Given the description of an element on the screen output the (x, y) to click on. 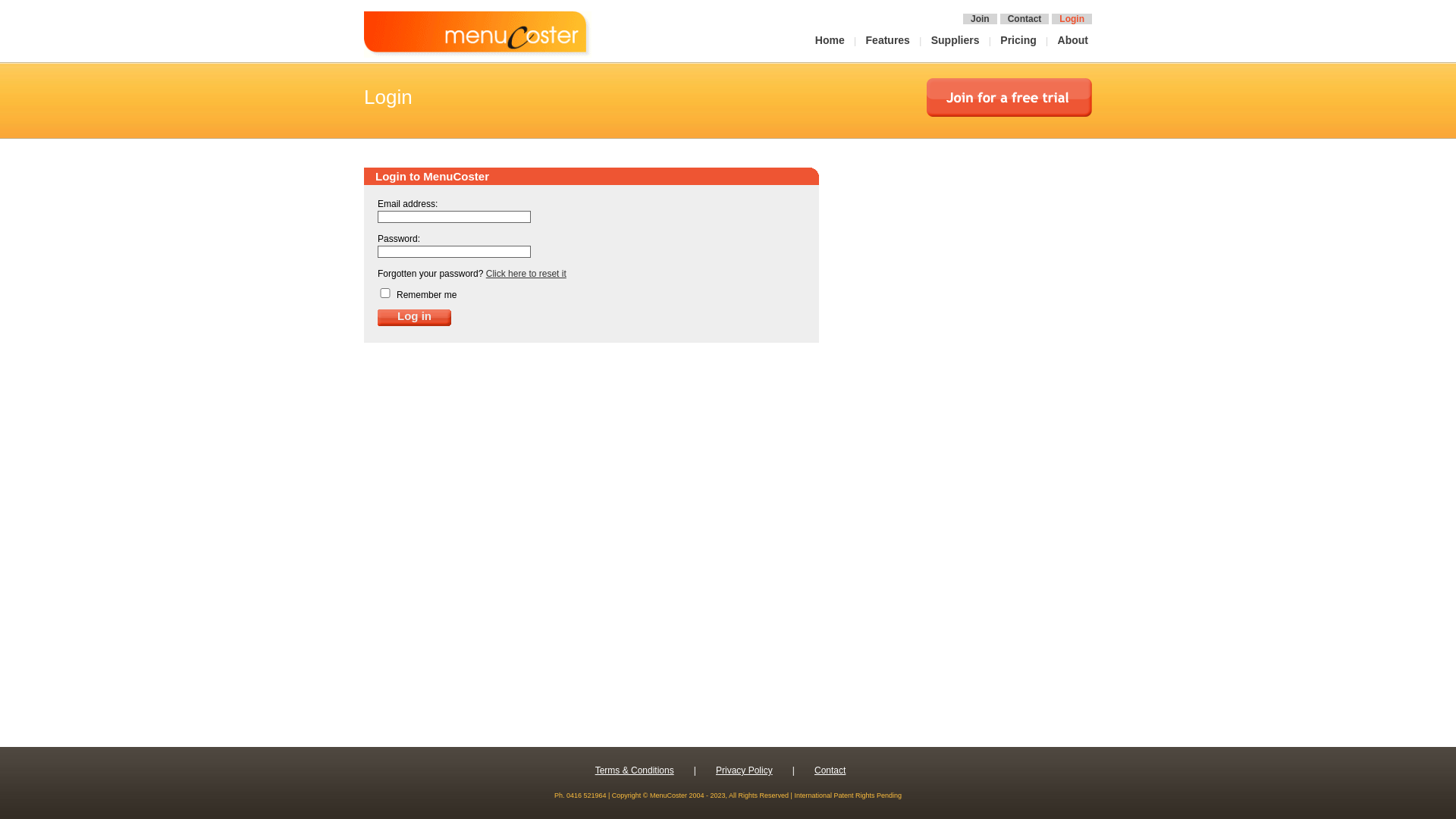
Log in Element type: text (414, 317)
About Element type: text (1074, 40)
Pricing Element type: text (1019, 40)
Login Element type: text (1071, 18)
Join for a free trial Element type: text (1009, 97)
Click here to reset it Element type: text (526, 273)
Suppliers Element type: text (957, 40)
Join Element type: text (980, 18)
Home Element type: text (831, 40)
Contact Element type: text (1024, 18)
Contact Element type: text (829, 770)
Features Element type: text (889, 40)
Terms & Conditions Element type: text (634, 770)
Privacy Policy Element type: text (743, 770)
